Given the description of an element on the screen output the (x, y) to click on. 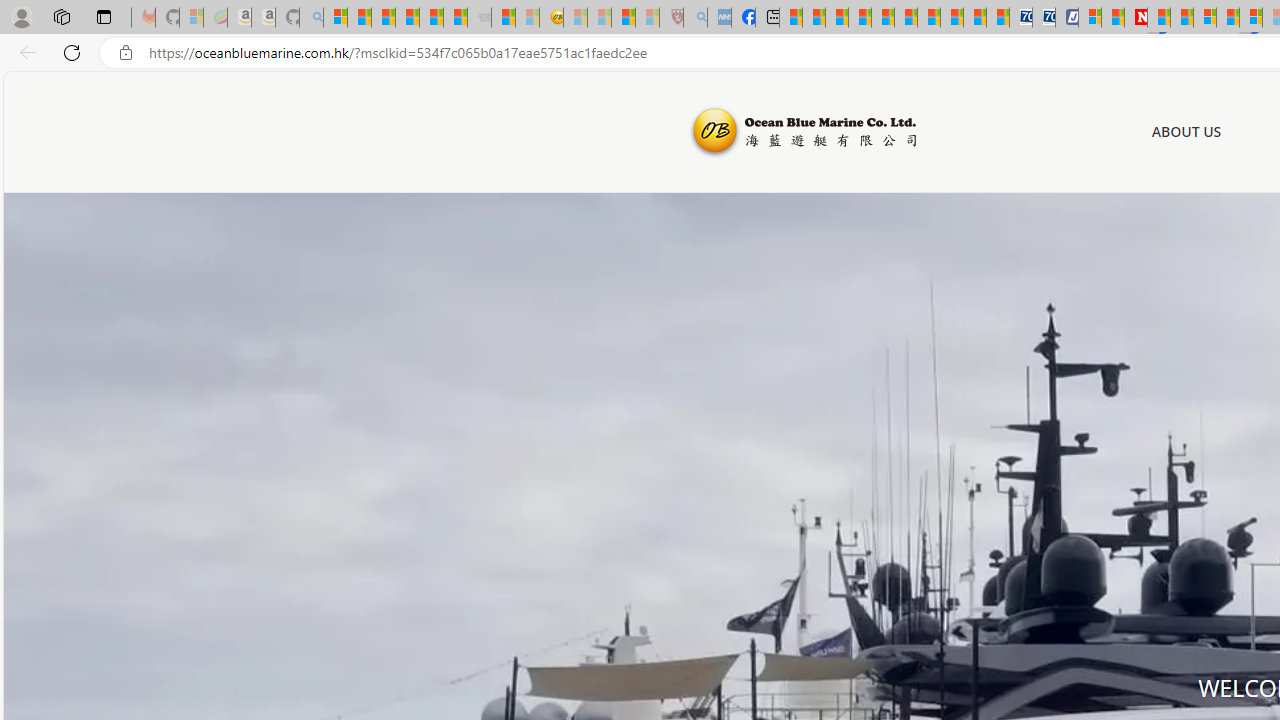
Climate Damage Becomes Too Severe To Reverse (859, 17)
